Given the description of an element on the screen output the (x, y) to click on. 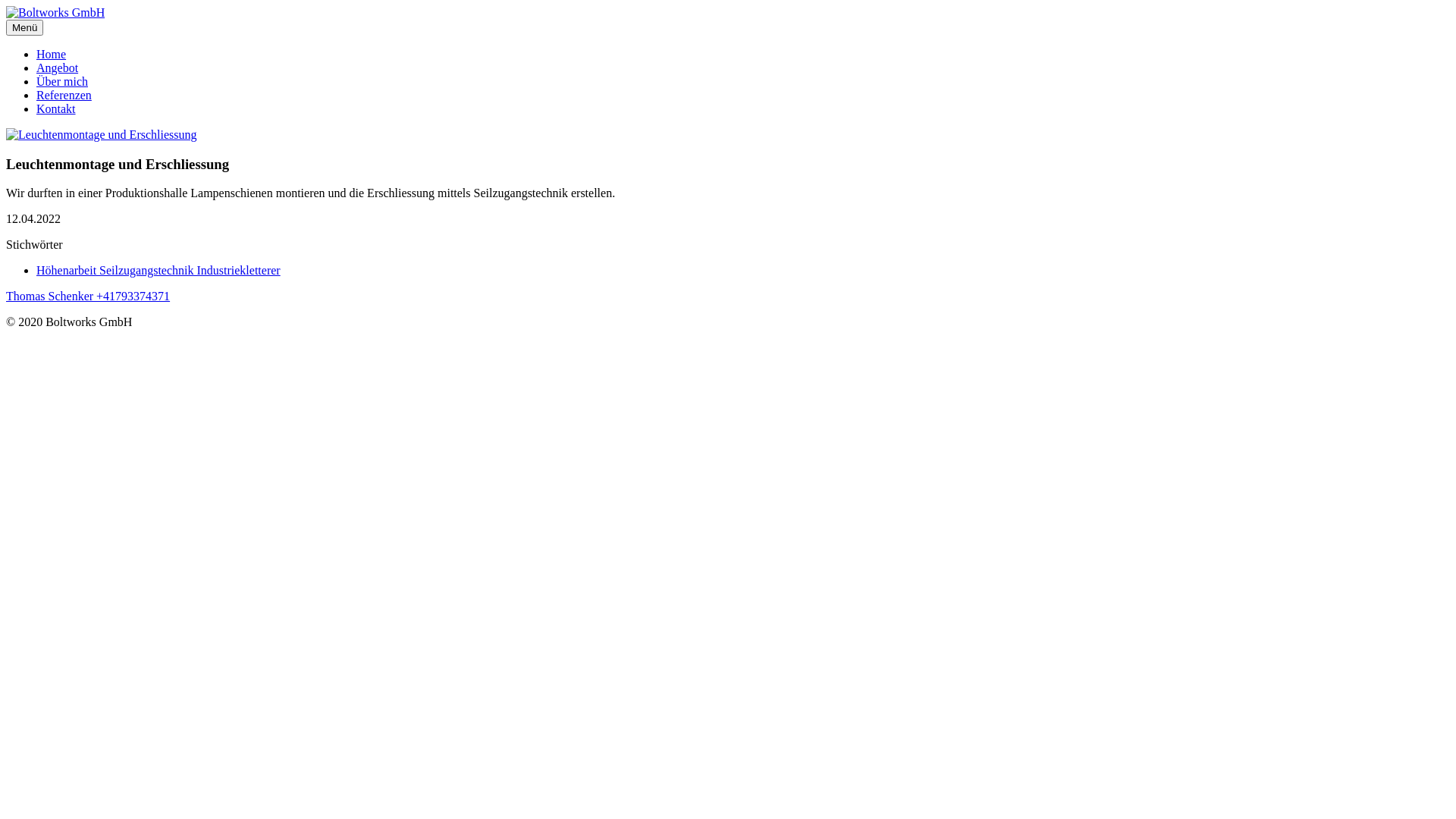
Referenzen Element type: text (63, 94)
Home Element type: text (50, 53)
Angebot Element type: text (57, 67)
Kontakt Element type: text (55, 108)
Thomas Schenker +41793374371 Element type: text (87, 295)
Leuchtenmontage und Erschliessung Element type: hover (101, 134)
